Given the description of an element on the screen output the (x, y) to click on. 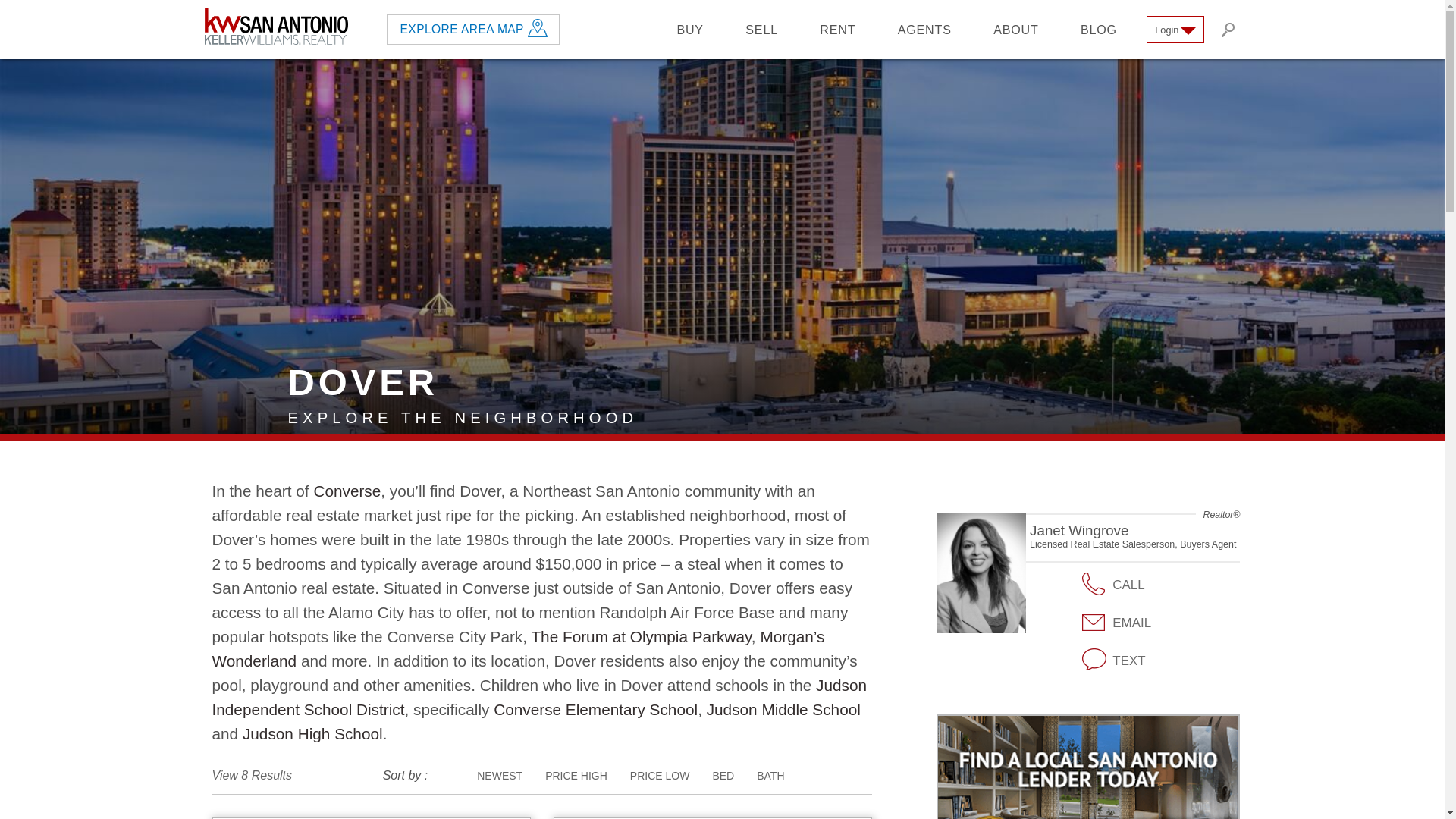
SELL (761, 29)
BUY (689, 29)
EXPLORE AREA MAP (462, 29)
